Given the description of an element on the screen output the (x, y) to click on. 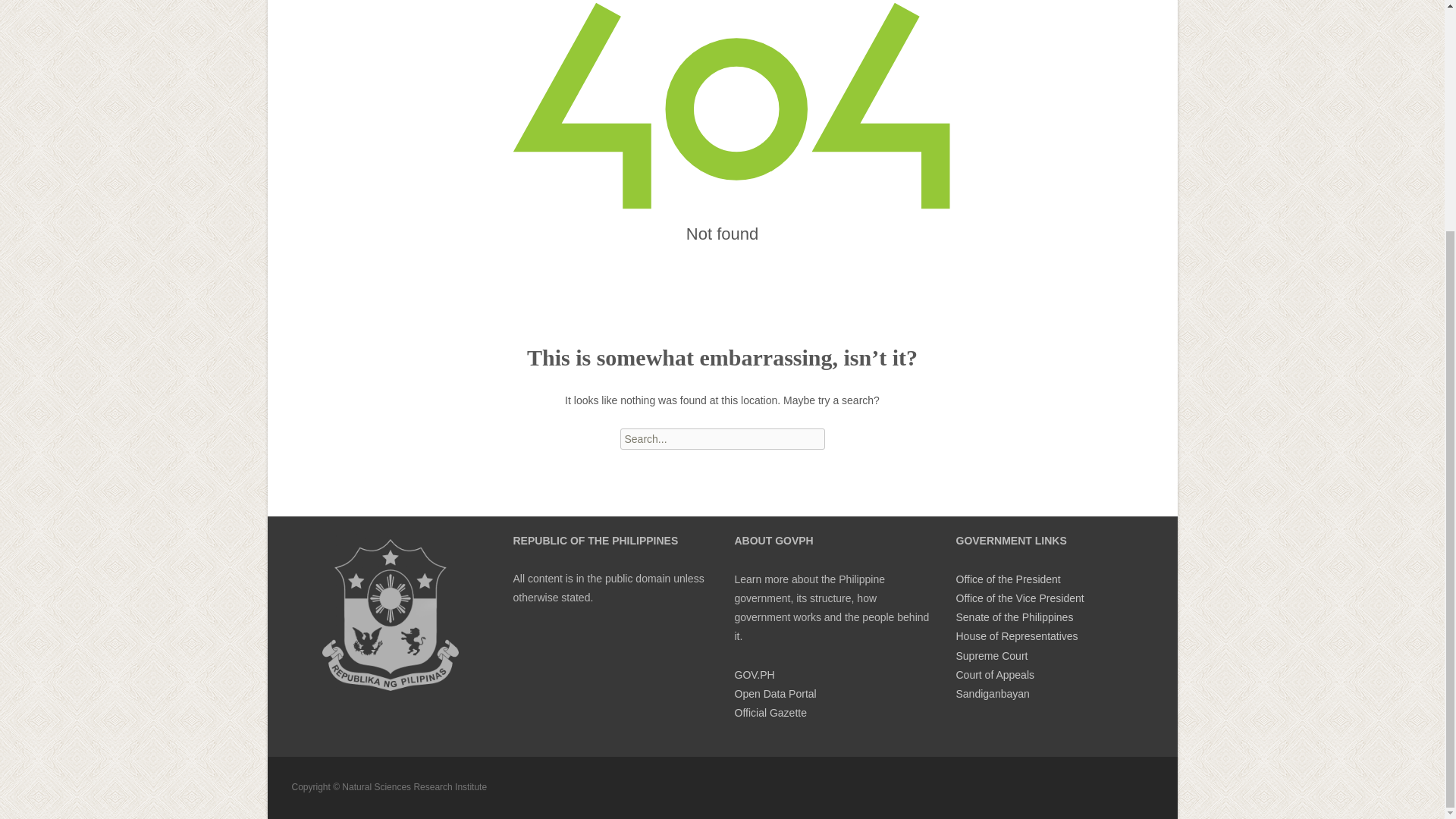
Search for: (722, 438)
Court of Appeals (994, 674)
House of Representatives (1016, 635)
Senate of the Philippines (1014, 616)
Open Data Portal (774, 693)
Supreme Court (991, 655)
Office of the President (1007, 579)
Official Gazette (769, 712)
GOV.PH (753, 674)
Office of the Vice President (1019, 598)
Sandiganbayan (992, 693)
